Given the description of an element on the screen output the (x, y) to click on. 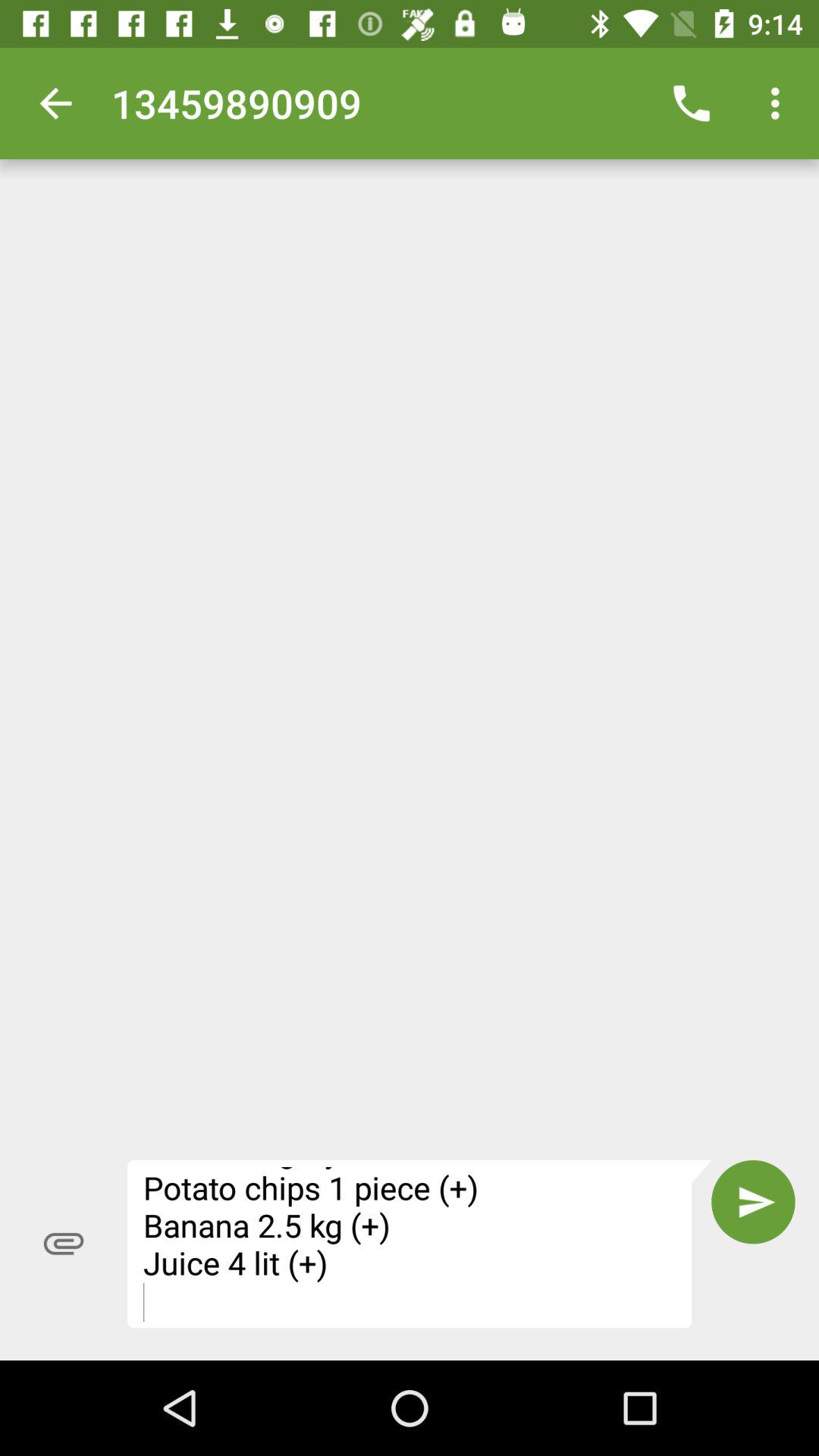
choose icon next to fivefly shopping list item (753, 1201)
